Given the description of an element on the screen output the (x, y) to click on. 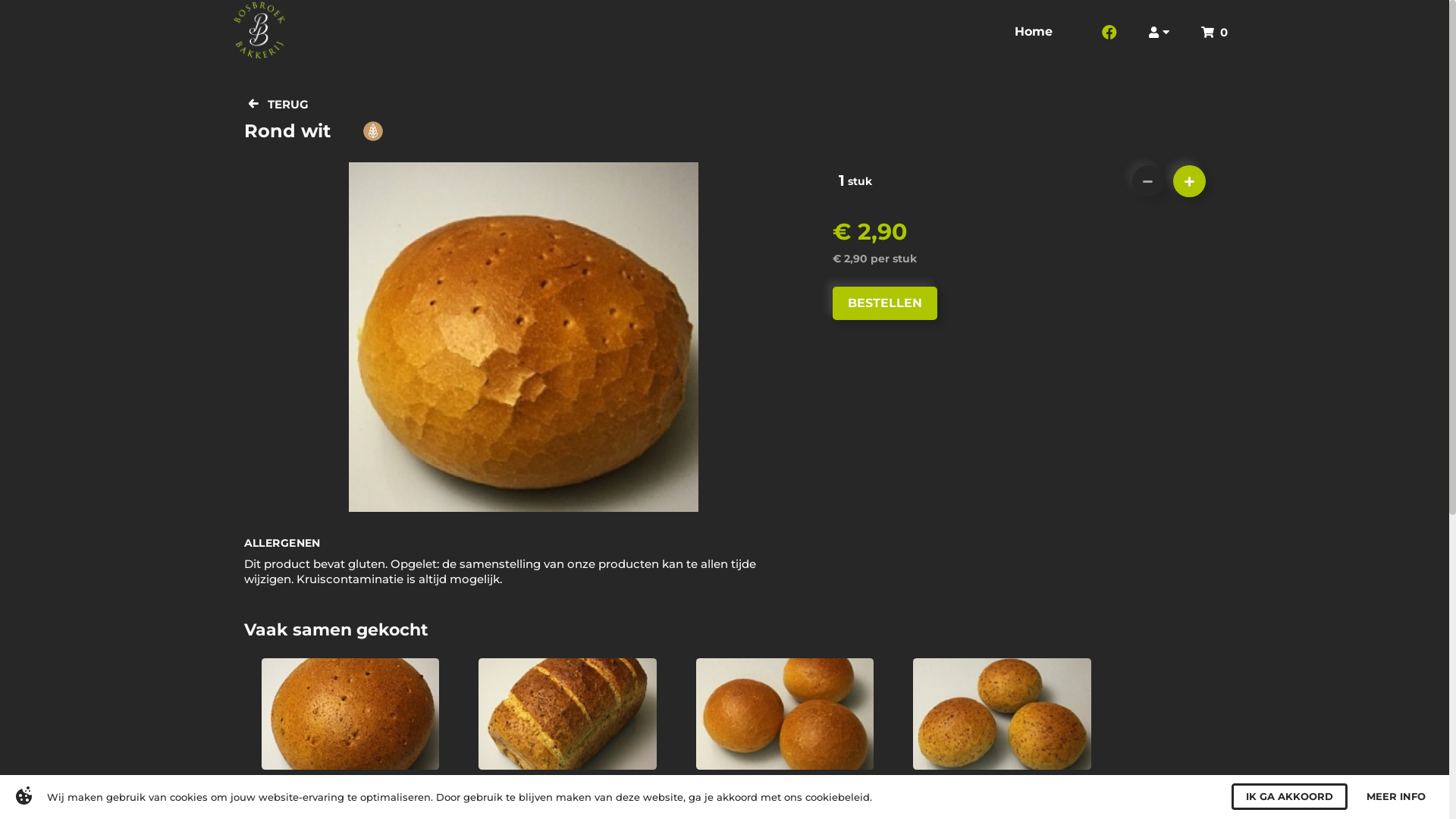
MORE INFO Element type: text (1402, 796)
I AGREE Element type: text (1316, 796)
